Given the description of an element on the screen output the (x, y) to click on. 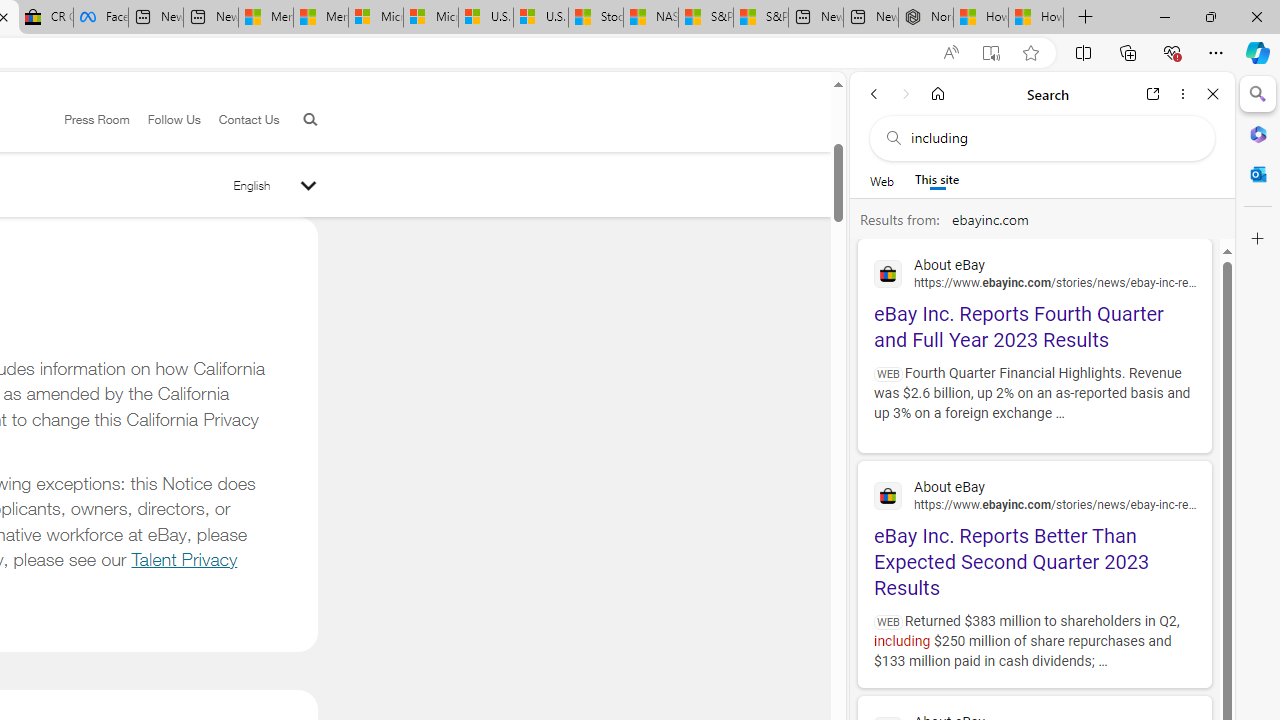
About eBay (1034, 493)
Enter Immersive Reader (F9) (991, 53)
